Given the description of an element on the screen output the (x, y) to click on. 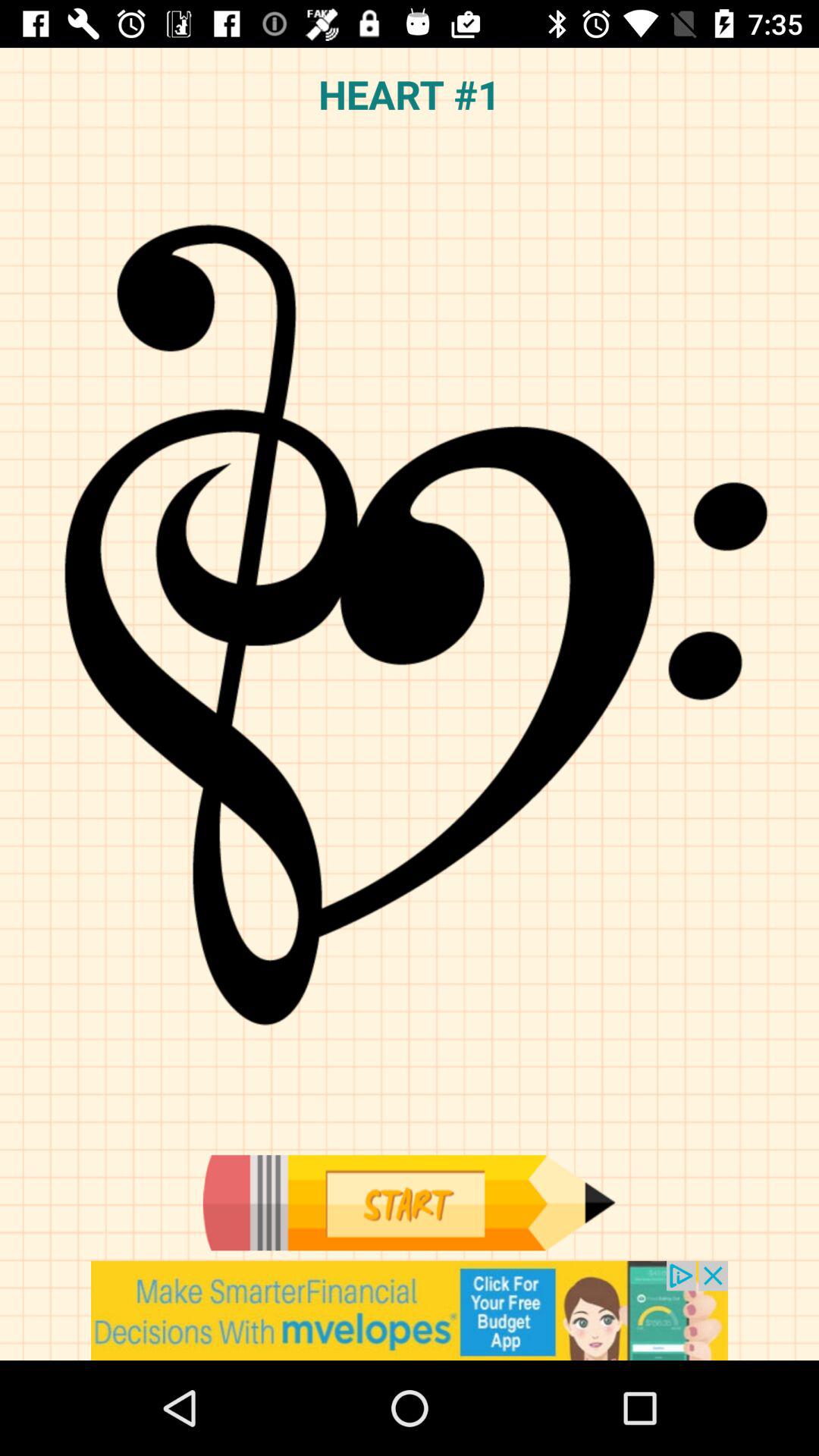
open advertisement (409, 1310)
